Given the description of an element on the screen output the (x, y) to click on. 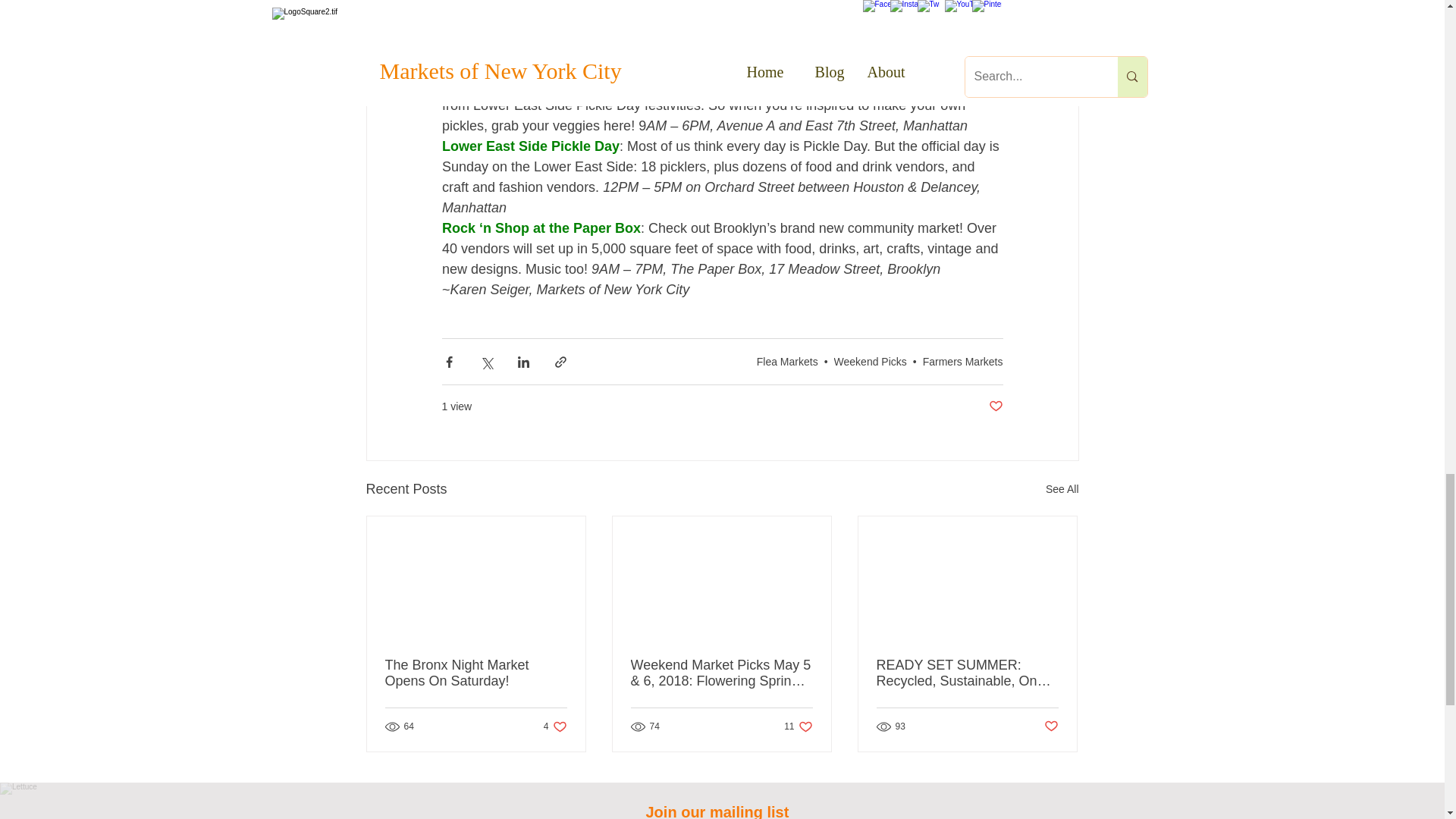
Lower East Side Pickle Day (529, 145)
Tompkins Square Greenmarket (542, 64)
Big Fat Flea (479, 5)
